Given the description of an element on the screen output the (x, y) to click on. 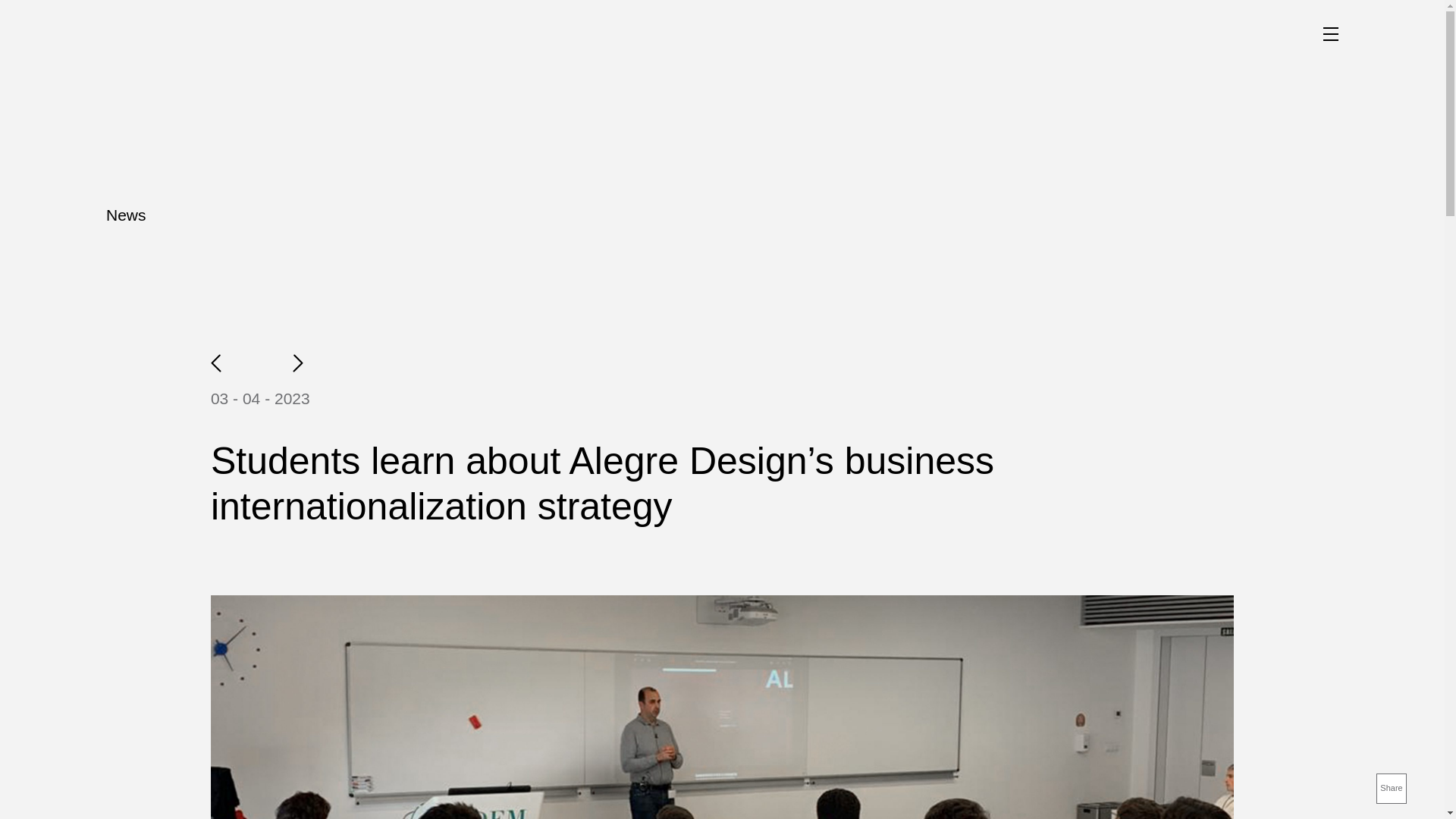
Share (1390, 788)
